Given the description of an element on the screen output the (x, y) to click on. 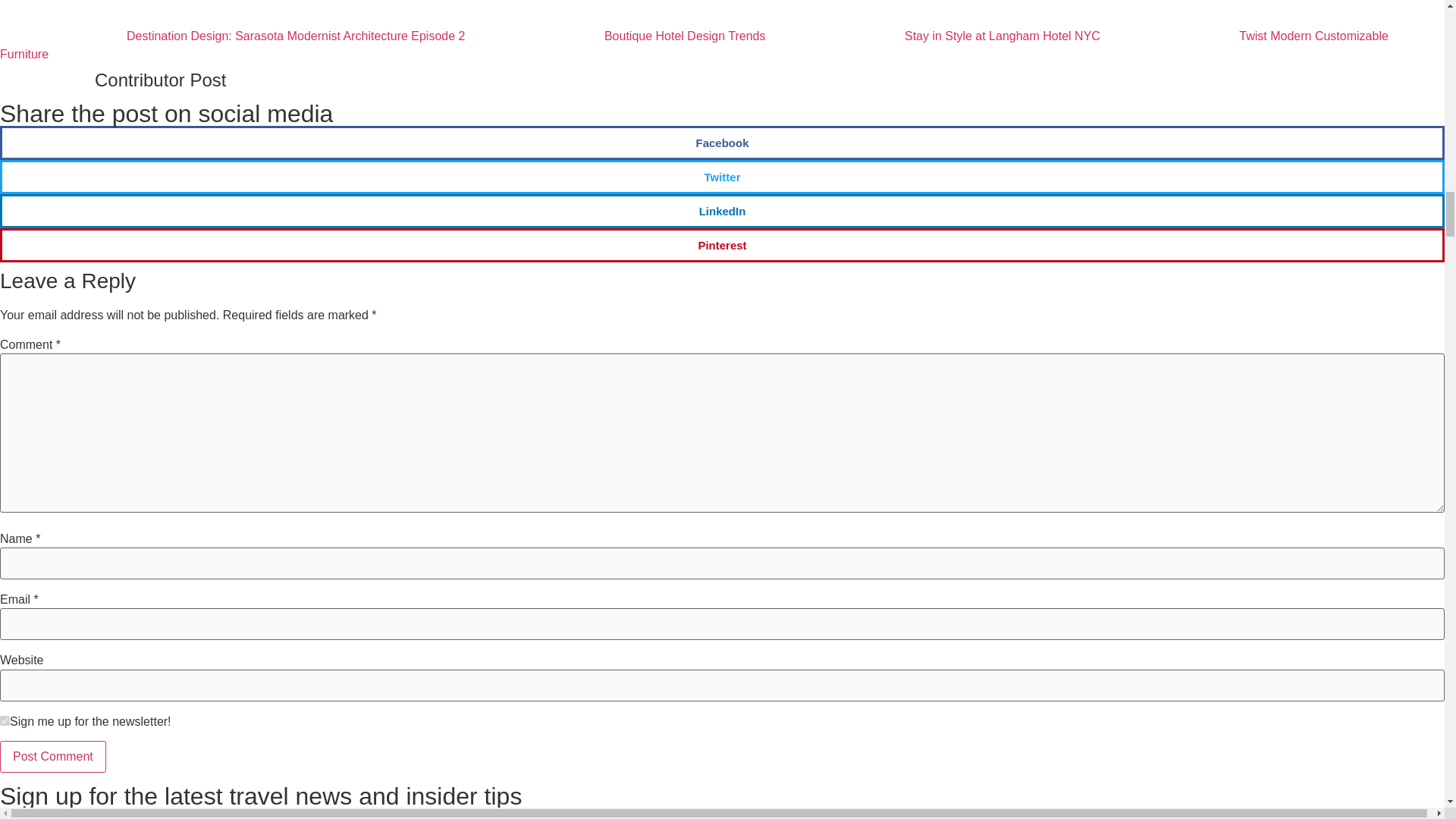
1 (5, 720)
Post Comment (53, 757)
Stay in Style at Langham Hotel NYC (838, 18)
Boutique Hotel Design Trends (538, 18)
Twist Modern Customizable Furniture (694, 44)
Stay in Style at Langham Hotel NYC (941, 35)
Boutique Hotel Design Trends (624, 35)
